Given the description of an element on the screen output the (x, y) to click on. 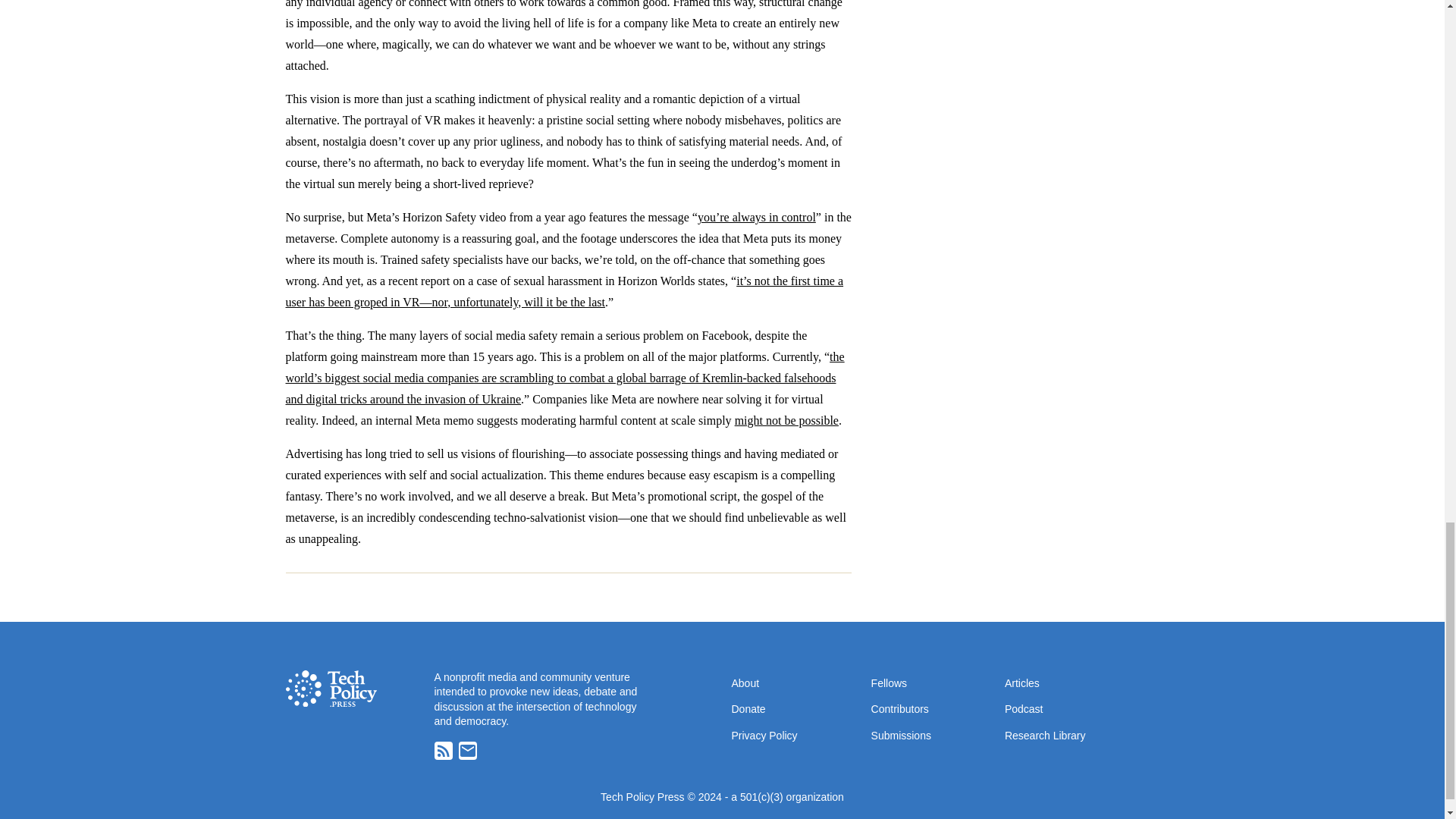
Donate (747, 707)
About (744, 682)
Research Library (1045, 735)
Podcast (1023, 707)
Articles (1021, 682)
might not be possible (786, 420)
Submissions (900, 735)
Privacy Policy (763, 735)
Contributors (899, 707)
Fellows (888, 682)
